Given the description of an element on the screen output the (x, y) to click on. 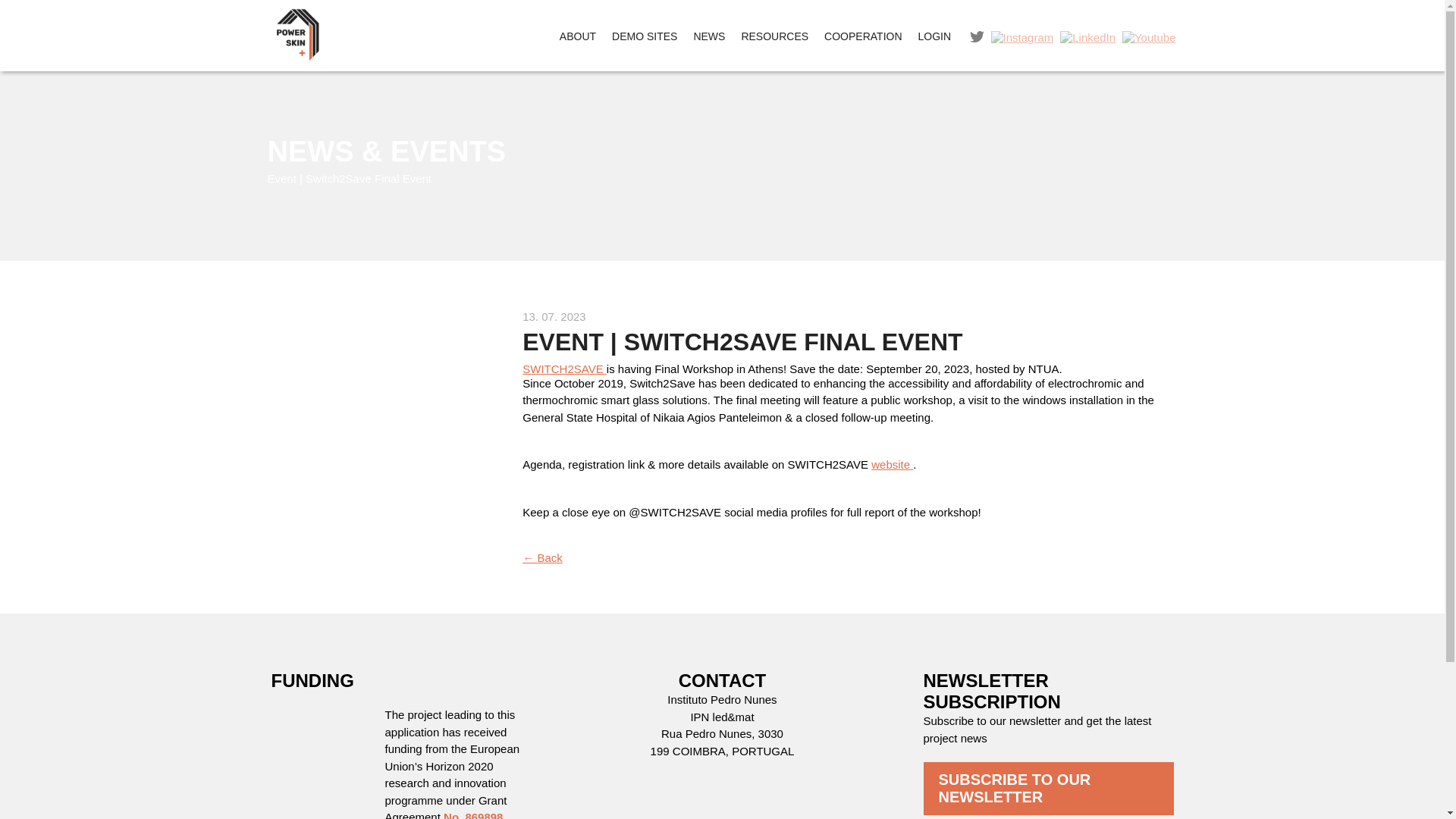
DEMO SITES (644, 36)
SWITCH2SAVE (564, 368)
COOPERATION (863, 36)
ABOUT (577, 36)
website (891, 463)
SUBSCRIBE TO OUR NEWSLETTER (1048, 788)
RESOURCES (774, 36)
LOGIN (934, 36)
NEWS (708, 36)
